Given the description of an element on the screen output the (x, y) to click on. 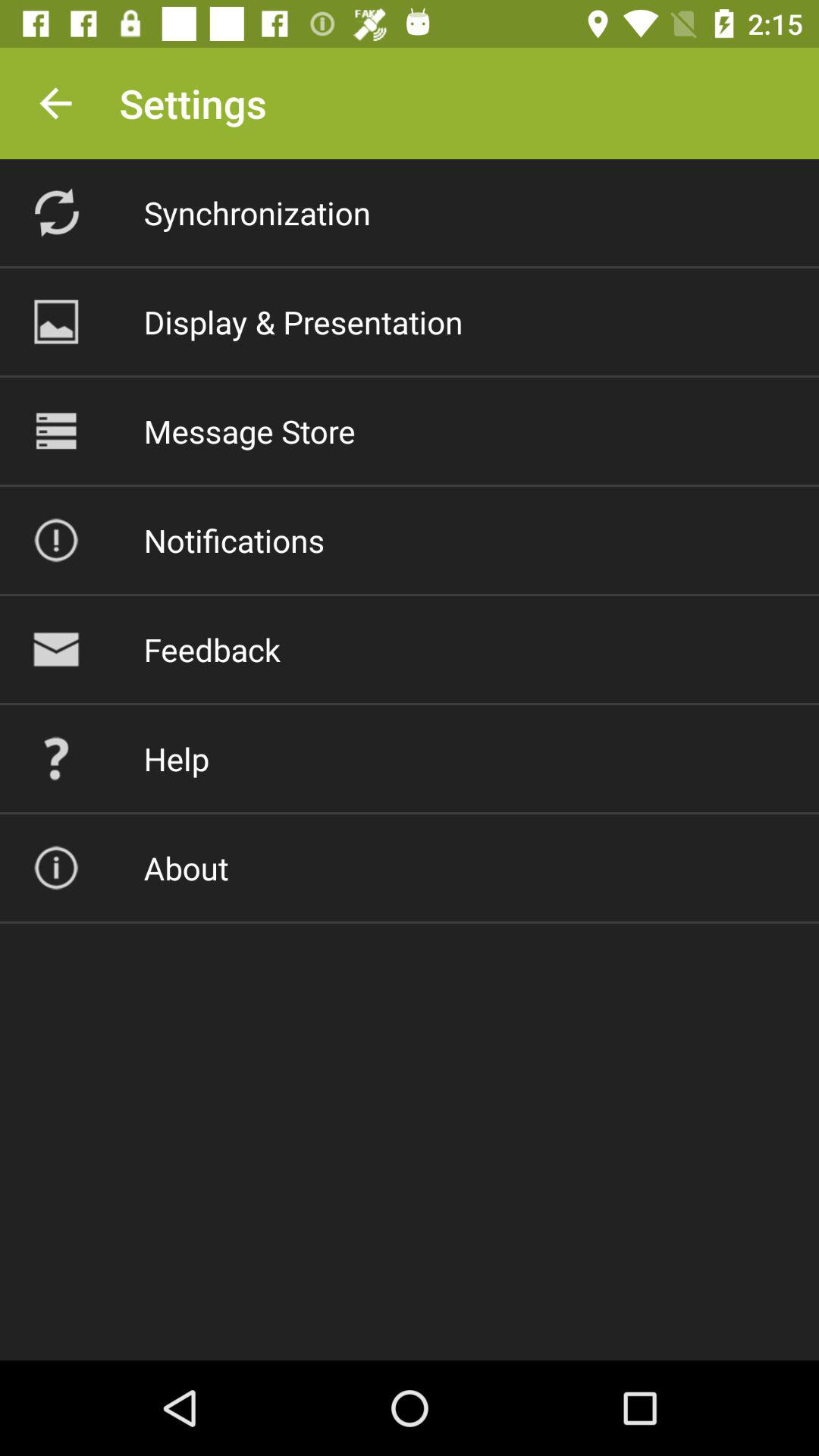
turn off the synchronization (256, 212)
